Given the description of an element on the screen output the (x, y) to click on. 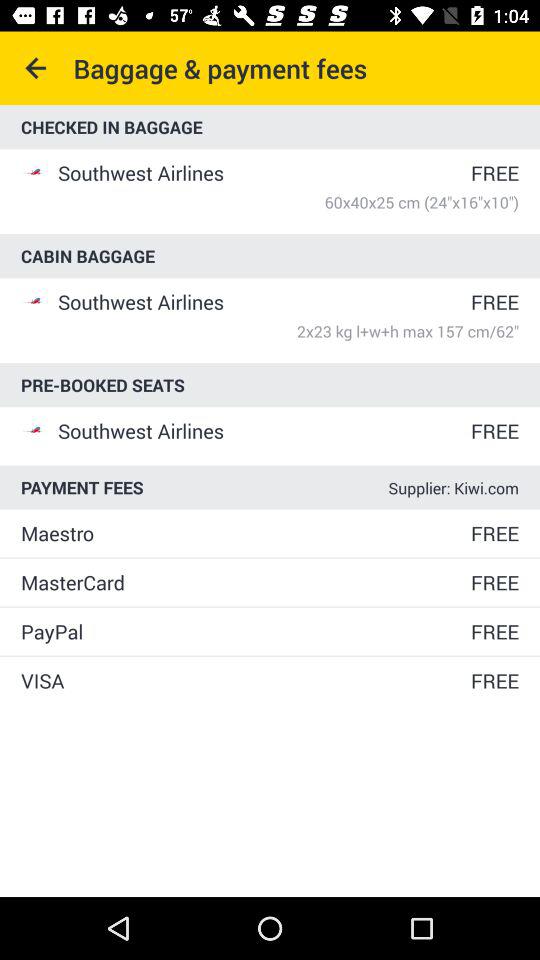
jump to the 60x40x25 cm 24 (288, 201)
